Given the description of an element on the screen output the (x, y) to click on. 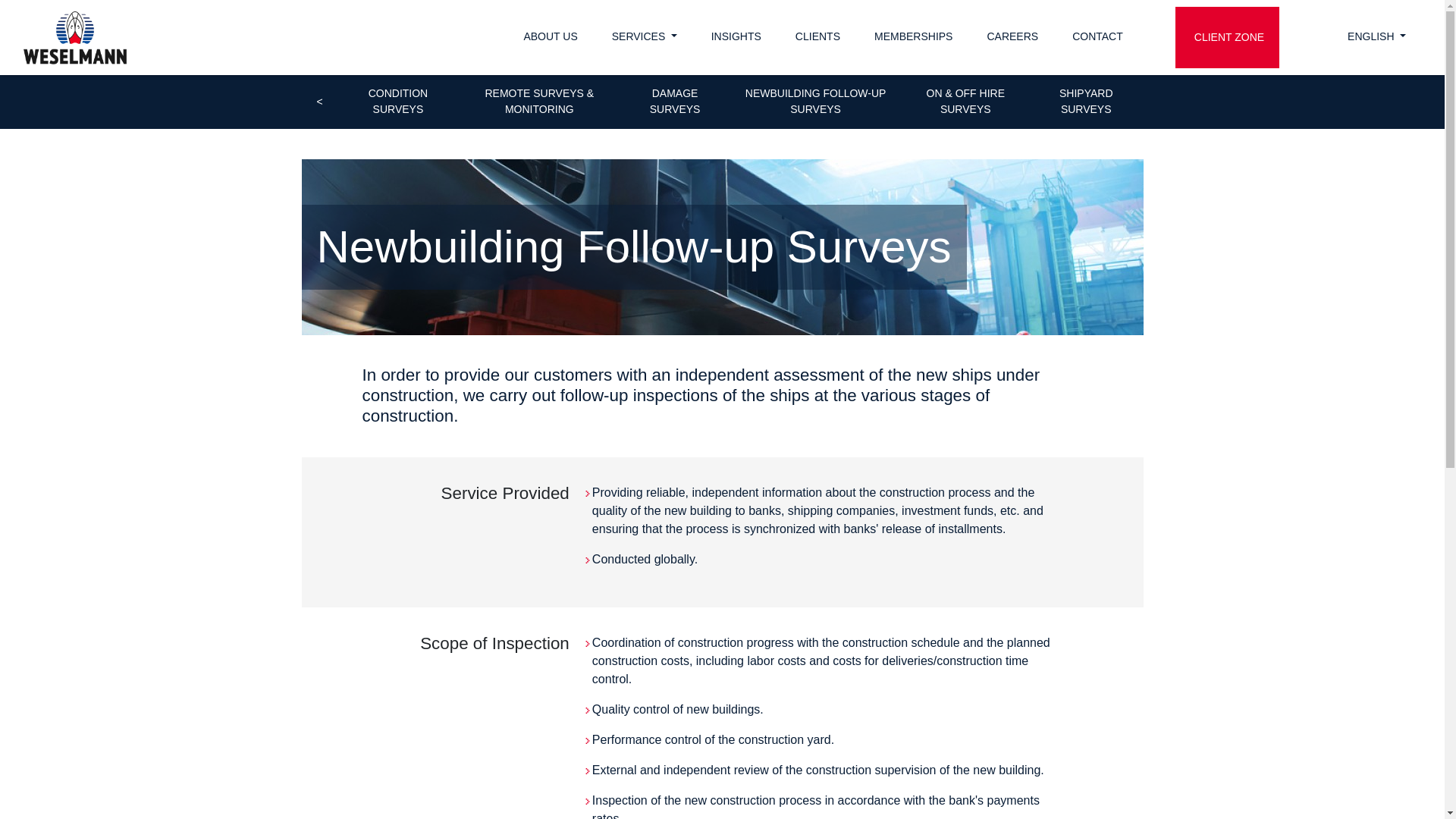
MEMBERSHIPS (912, 36)
INSIGHTS (734, 36)
CONTACT (1095, 36)
NEWBUILDING FOLLOW-UP SURVEYS (815, 101)
CLIENT ZONE (1226, 36)
Client Zone (1226, 36)
Insights (734, 36)
CONDITION SURVEYS (398, 101)
CLIENTS (816, 36)
SHIPYARD SURVEYS (1085, 101)
